Given the description of an element on the screen output the (x, y) to click on. 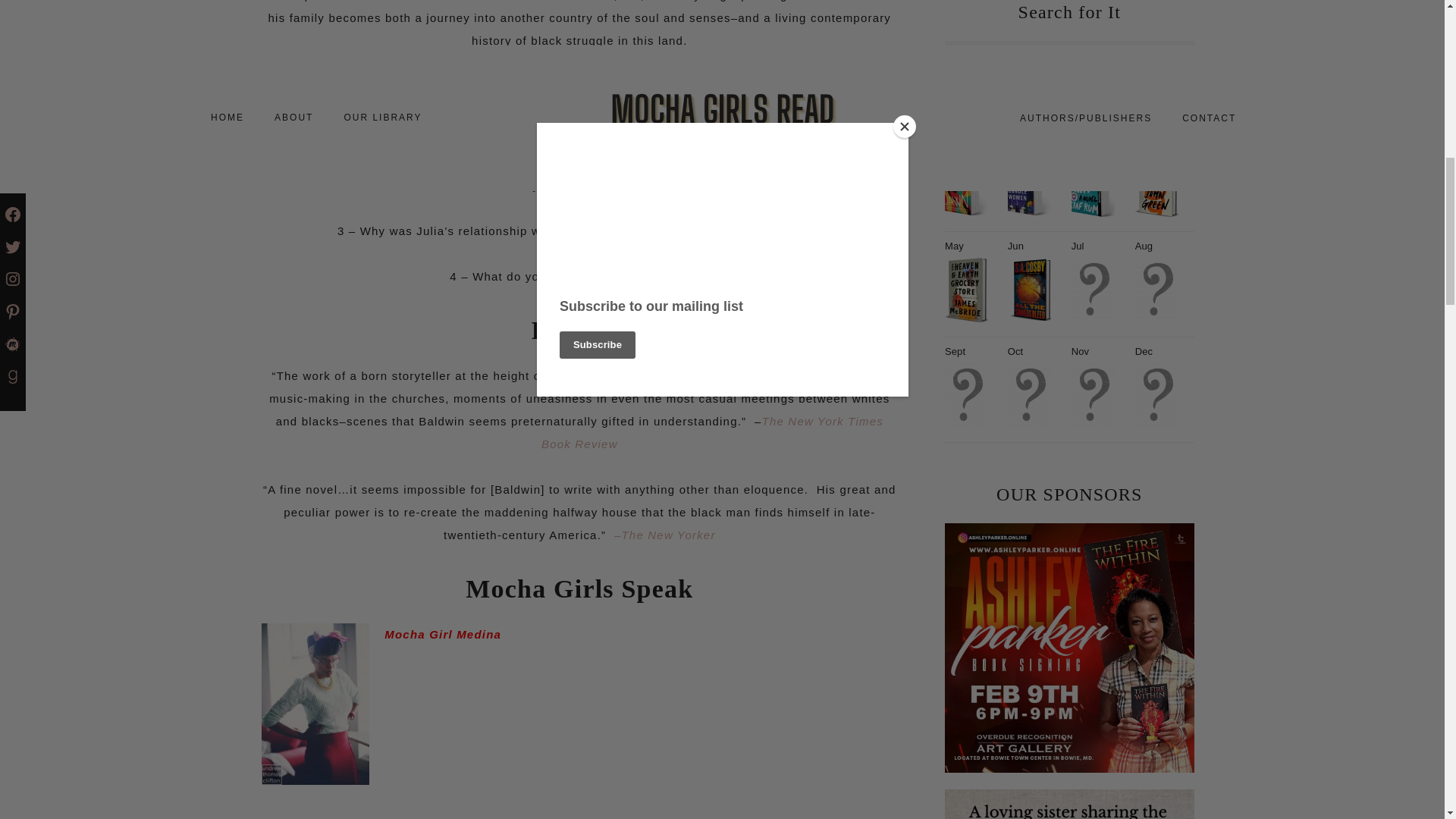
The New York Times Book Review (712, 432)
